Given the description of an element on the screen output the (x, y) to click on. 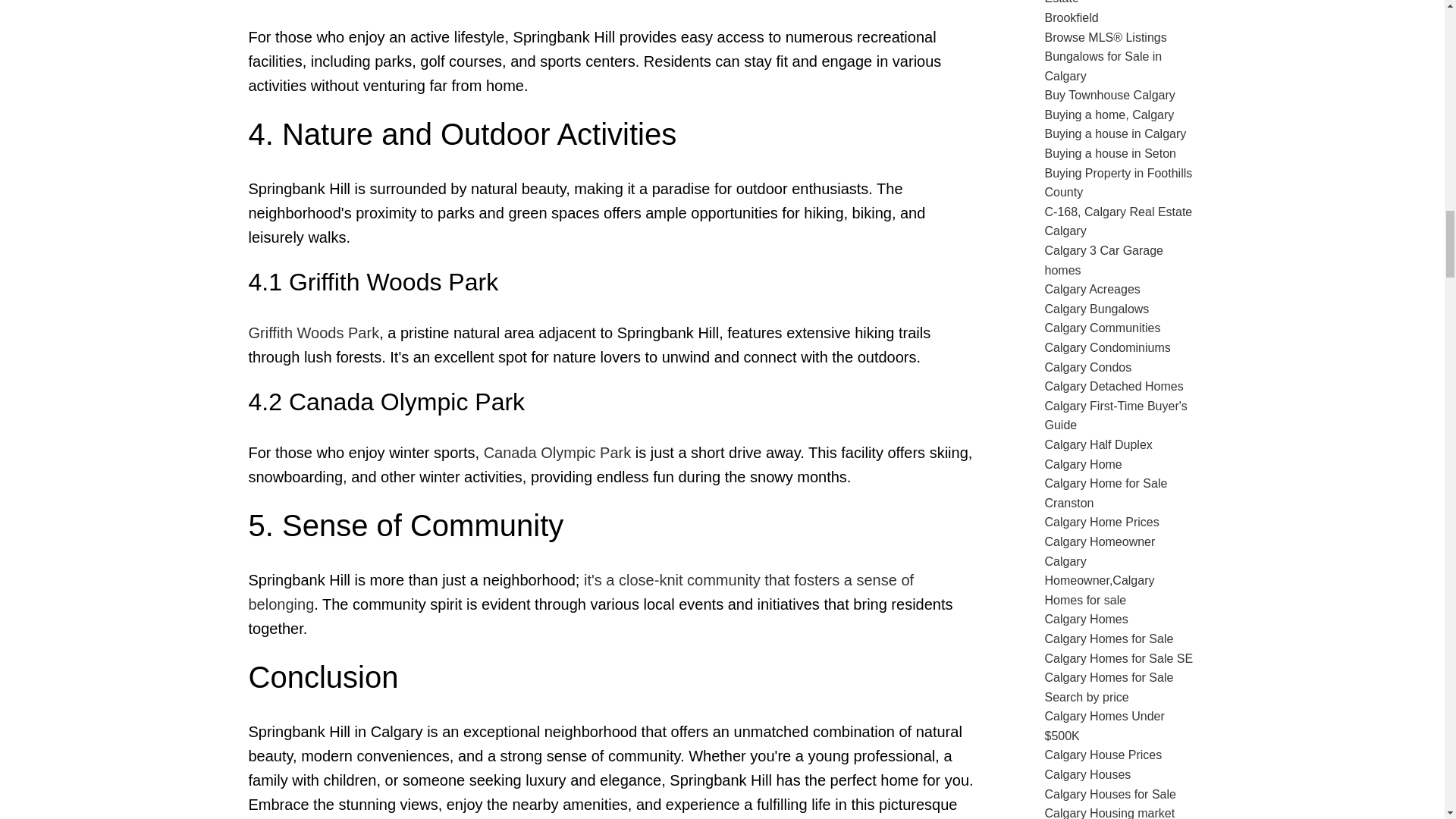
Canada Winsport (557, 452)
Griffith Woods Park  (314, 332)
The Springbank Hill Community Association (581, 591)
